Given the description of an element on the screen output the (x, y) to click on. 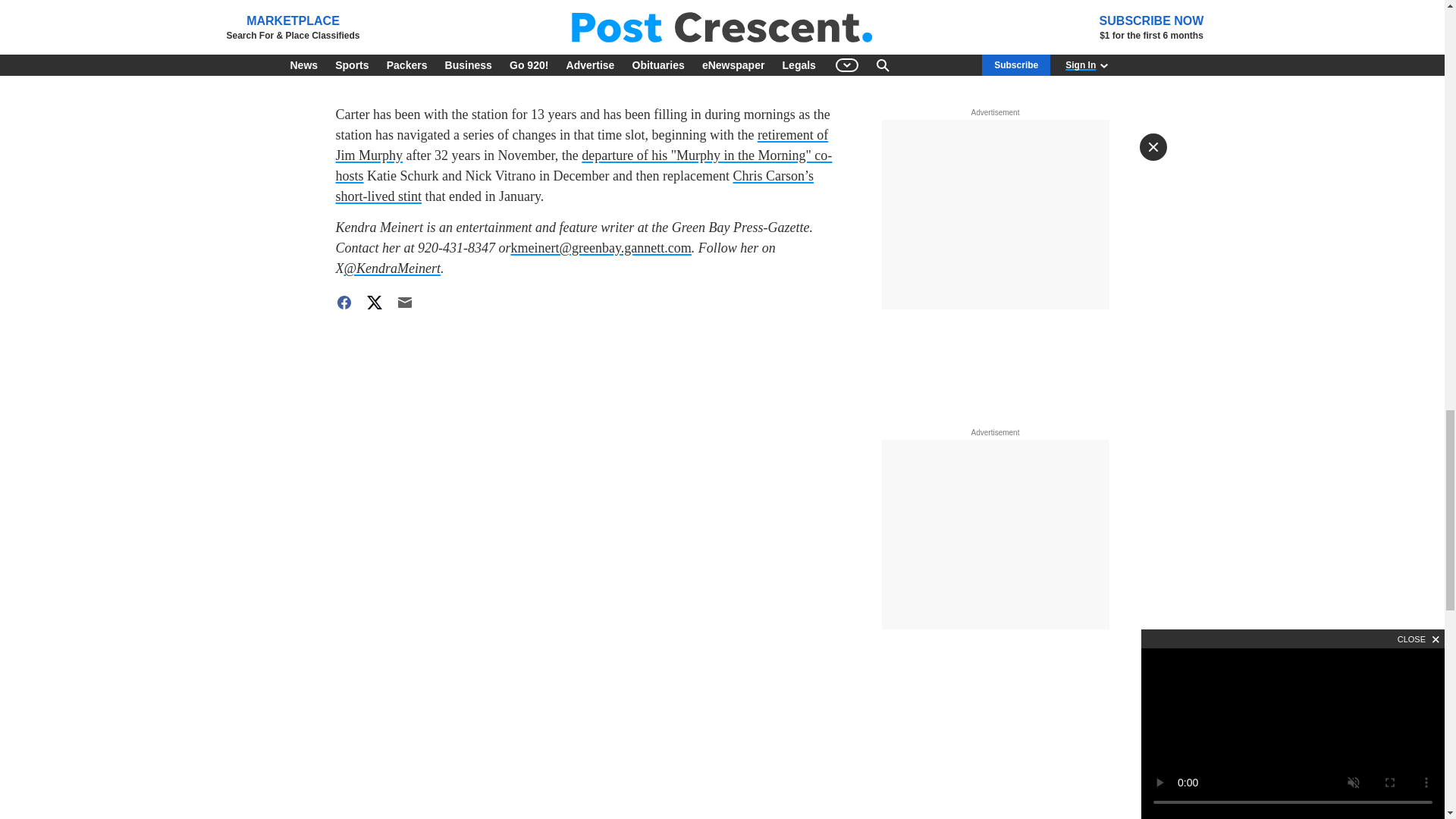
retirement of Jim Murphy (581, 144)
departure of his "Murphy in the Morning" co-hosts (582, 165)
